Given the description of an element on the screen output the (x, y) to click on. 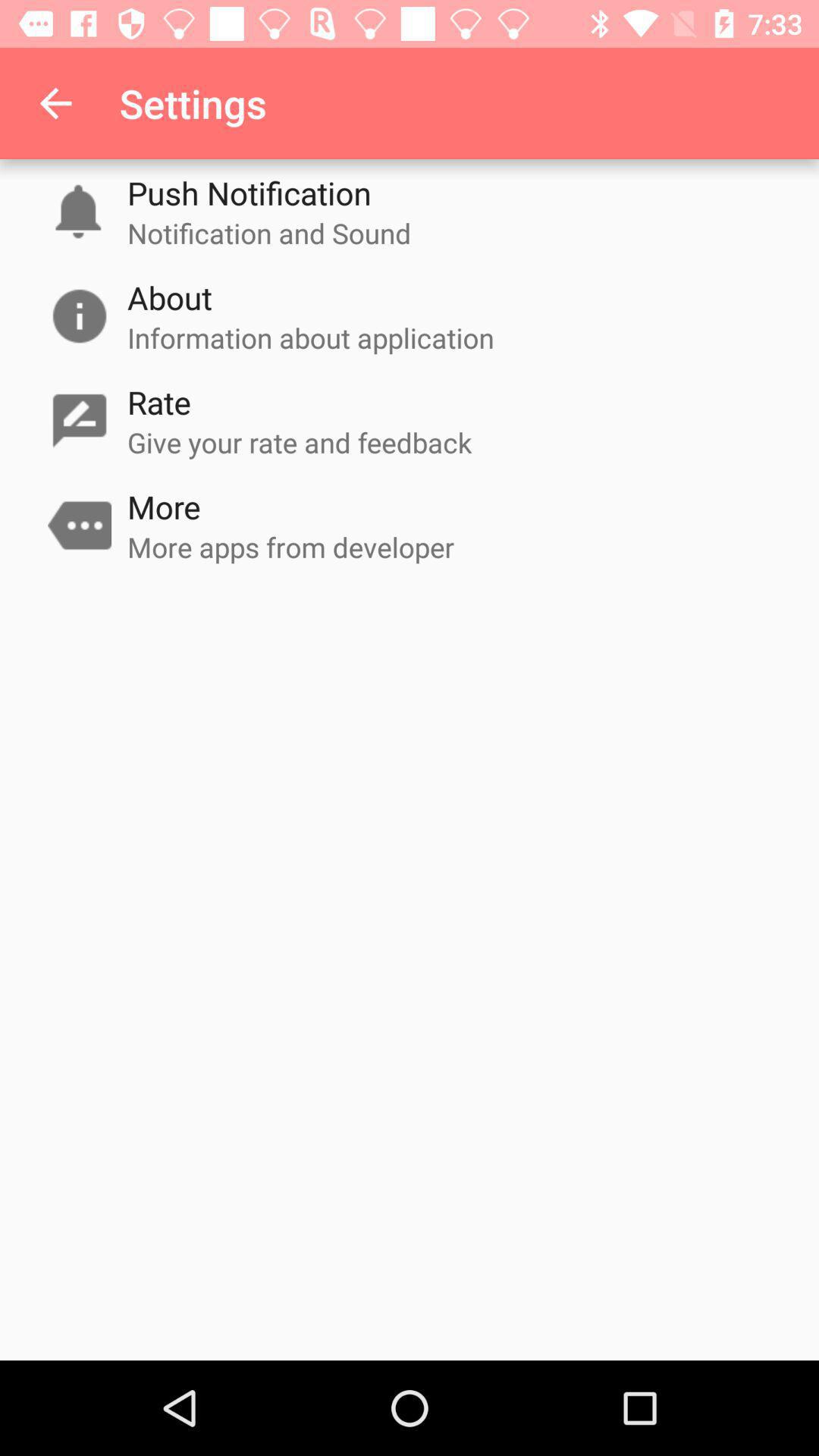
swipe to push notification (249, 192)
